Given the description of an element on the screen output the (x, y) to click on. 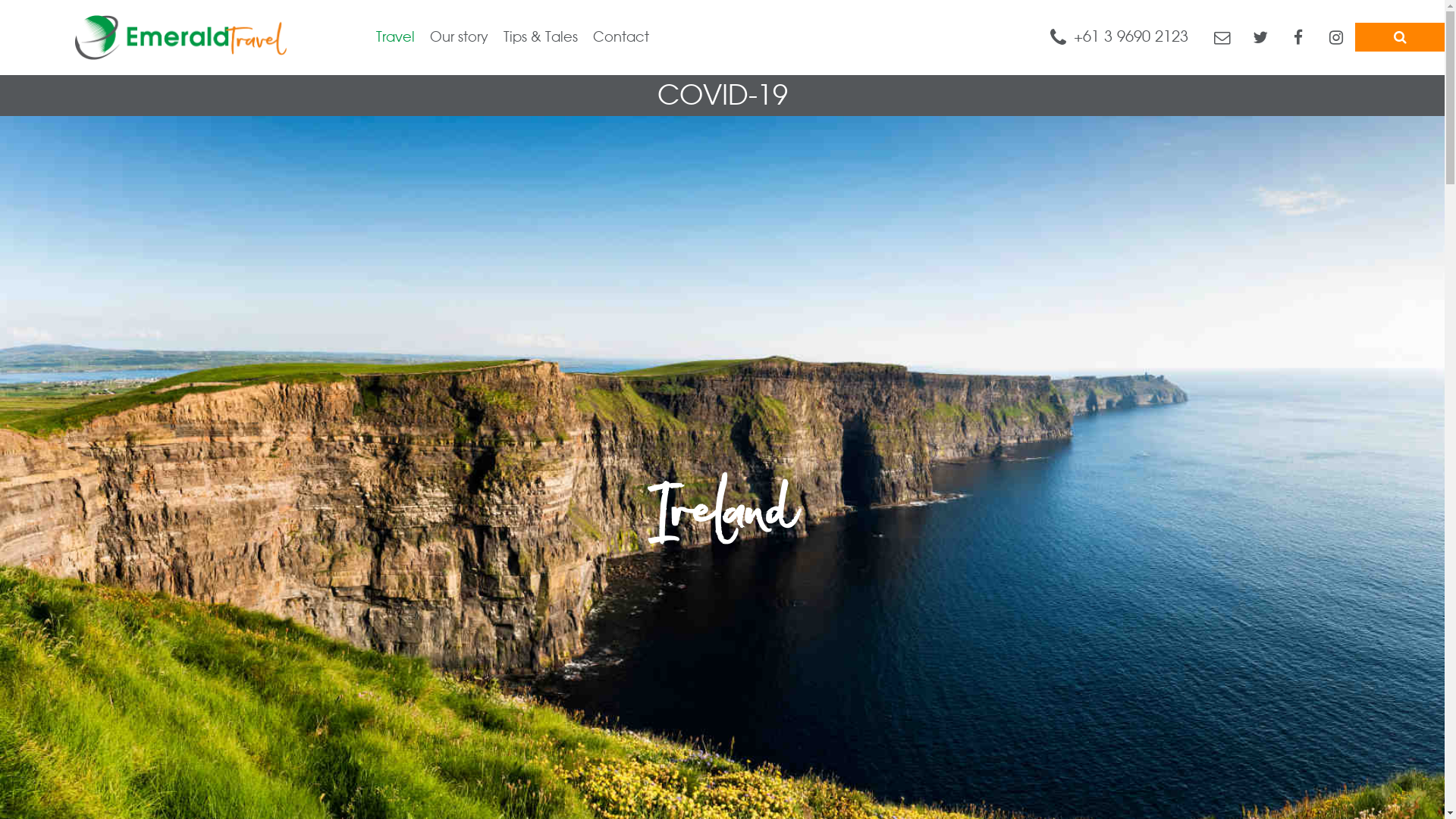
COVID-19 Element type: text (721, 94)
Travel Element type: text (387, 37)
Contact Element type: text (613, 37)
Our story Element type: text (451, 37)
+61 3 9690 2123 Element type: text (1119, 36)
Tips & Tales Element type: text (532, 37)
